Given the description of an element on the screen output the (x, y) to click on. 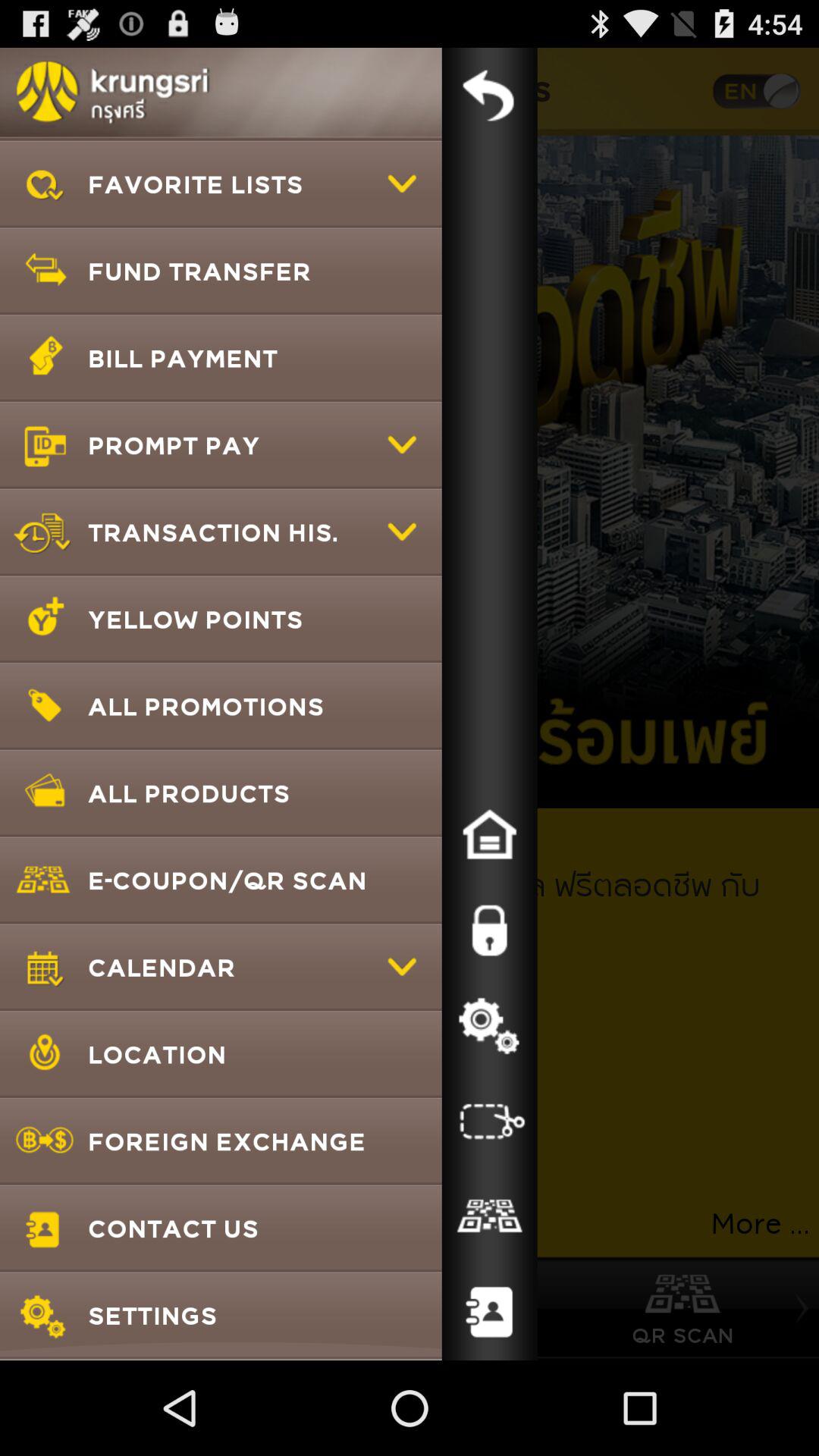
close menu button (489, 95)
